Given the description of an element on the screen output the (x, y) to click on. 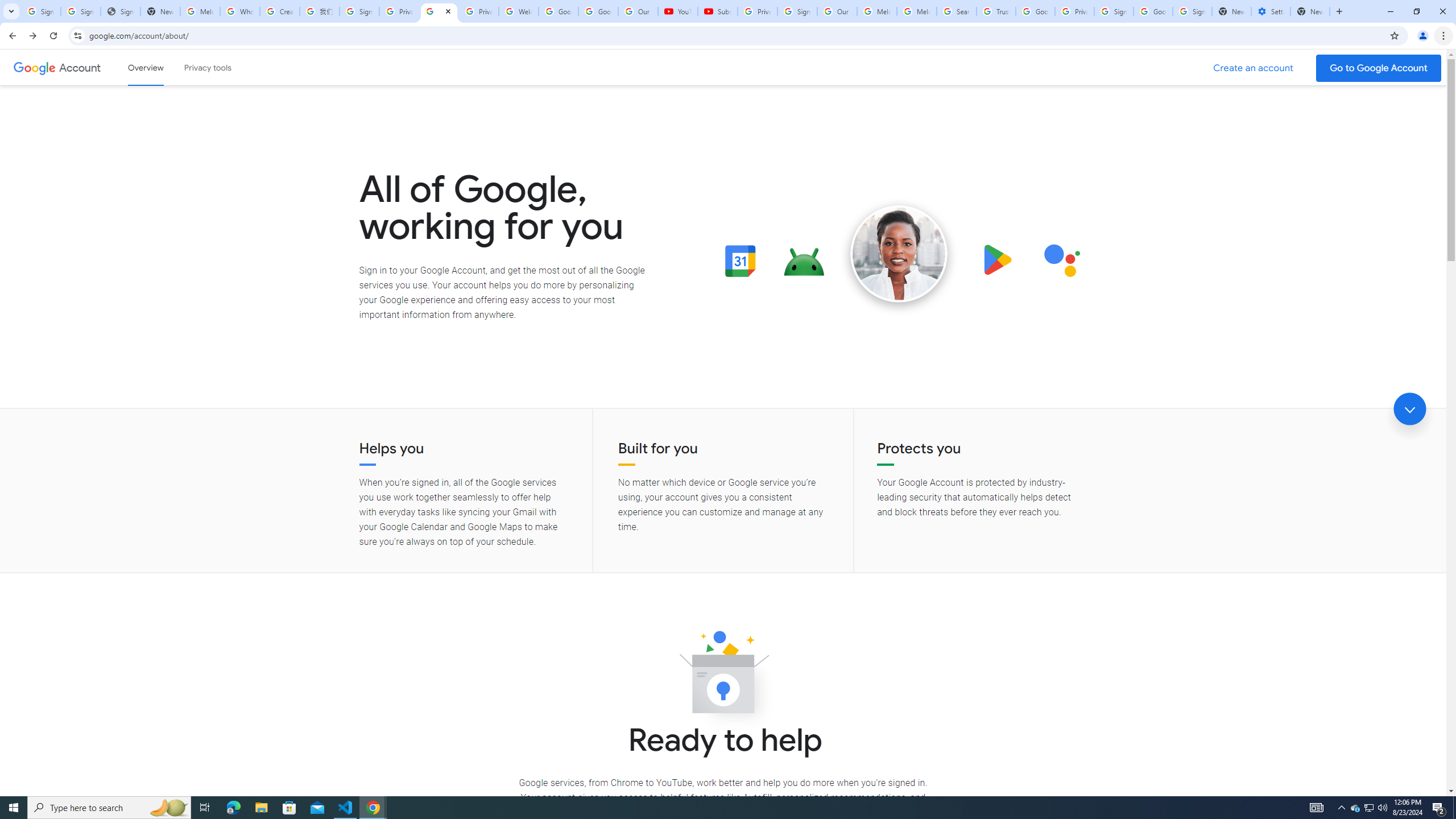
Sign In - USA TODAY (120, 11)
Sign in - Google Accounts (40, 11)
Google Account overview (145, 67)
Settings - Addresses and more (1270, 11)
Sign in - Google Accounts (1192, 11)
Google logo (34, 67)
Google Cybersecurity Innovations - Google Safety Center (1152, 11)
